Given the description of an element on the screen output the (x, y) to click on. 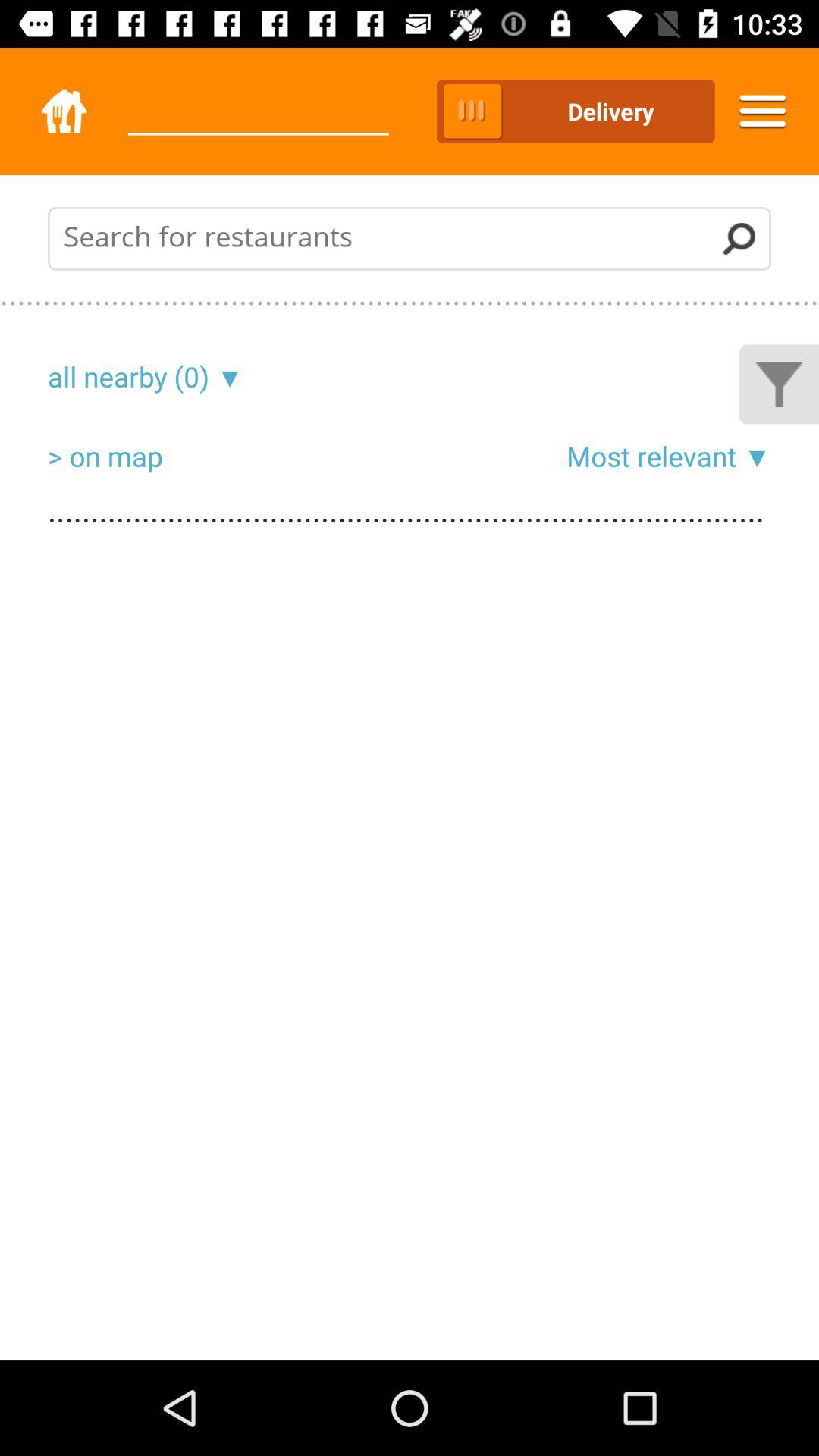
launch the icon above the > on map icon (128, 376)
